Given the description of an element on the screen output the (x, y) to click on. 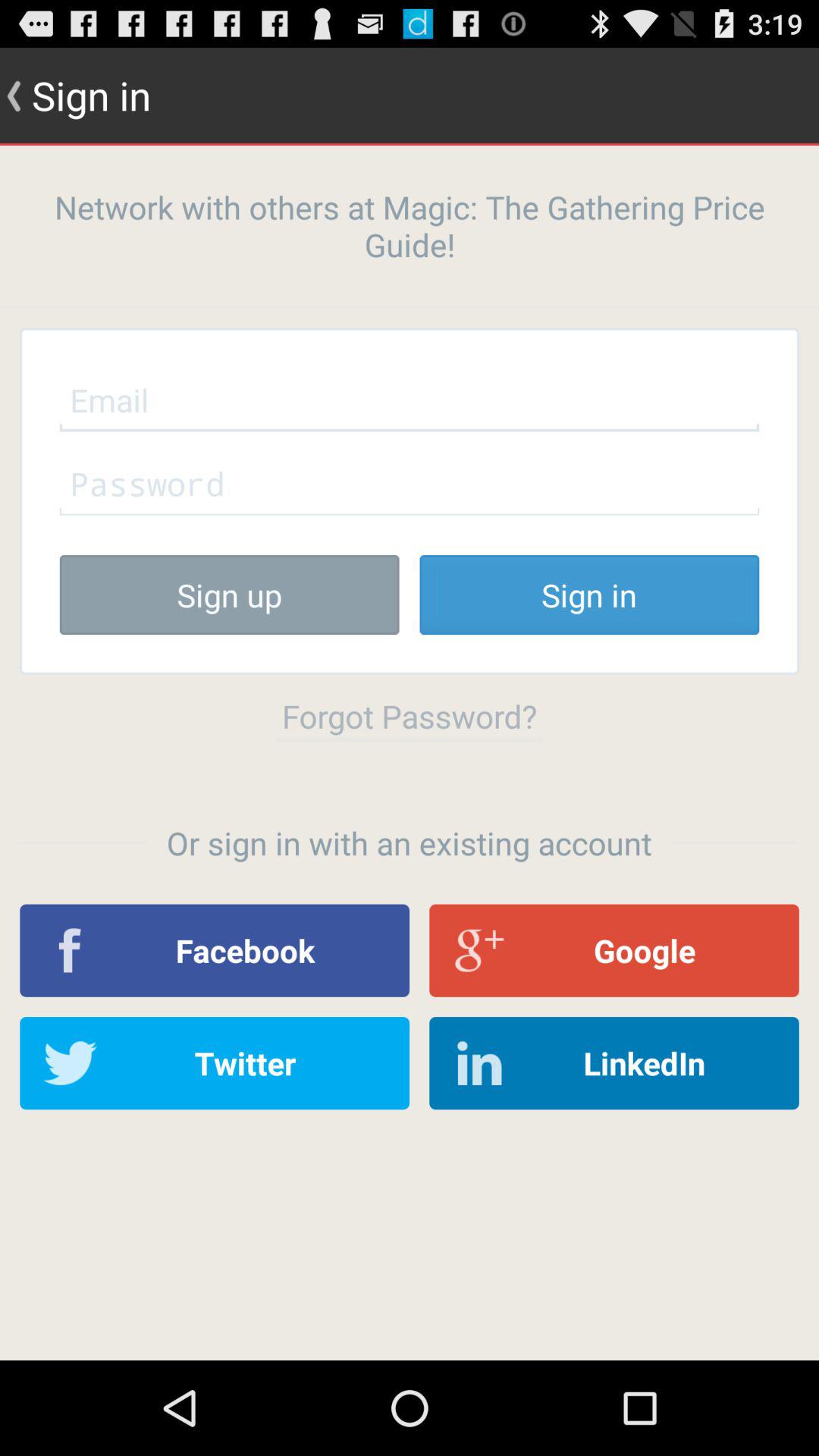
flip until sign up (229, 594)
